Given the description of an element on the screen output the (x, y) to click on. 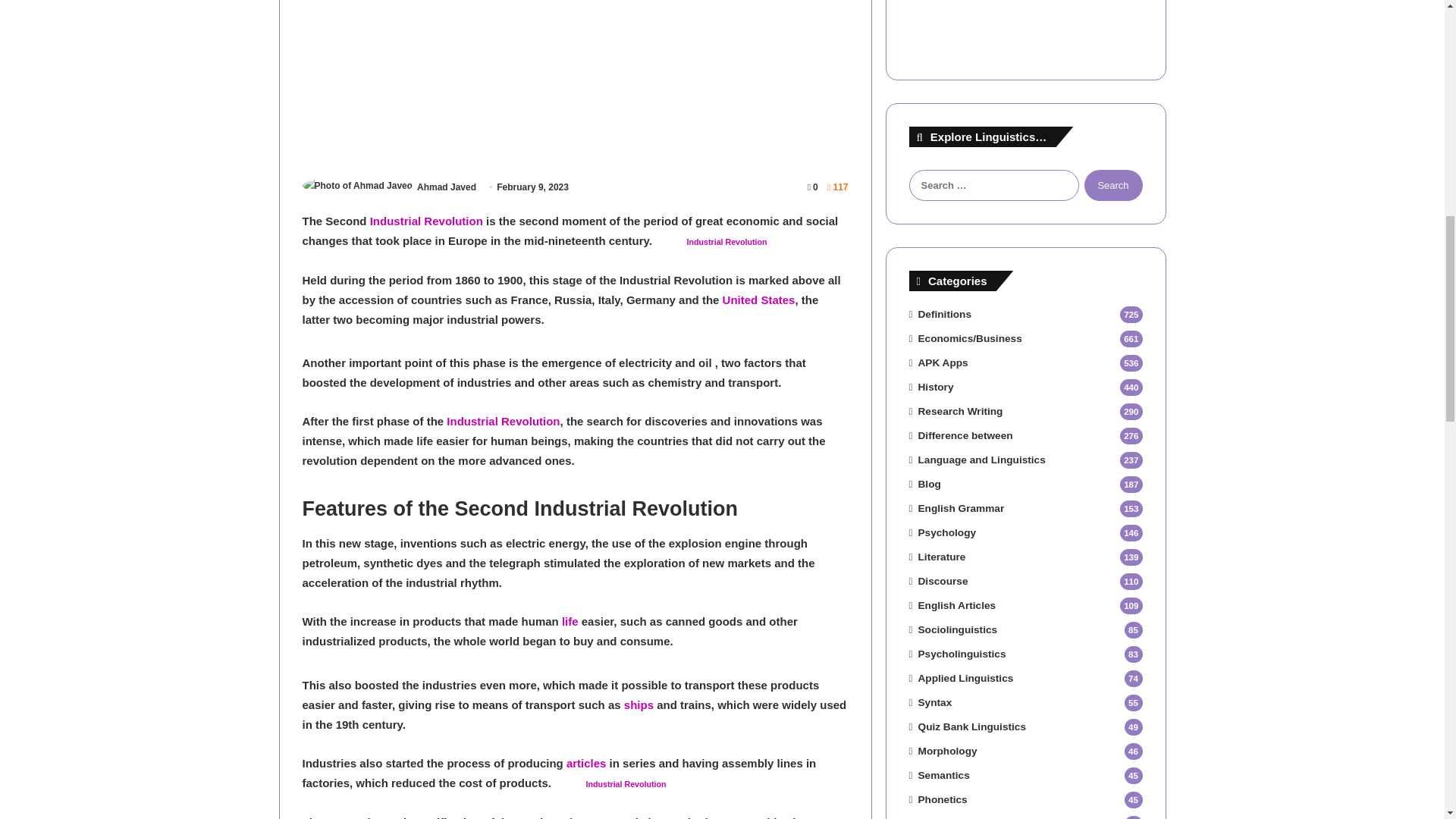
Ahmad Javed (446, 186)
life (570, 621)
Advertisement (574, 81)
Industrial Revolution (626, 783)
Industrial Revolution (727, 241)
life (570, 621)
Industrial Revolution (727, 241)
articles (586, 762)
Ahmad Javed (446, 186)
articles (586, 762)
United States (758, 299)
ships (638, 704)
Industrial Revolution (626, 783)
Industrial Revolution (426, 220)
Search (1113, 184)
